Given the description of an element on the screen output the (x, y) to click on. 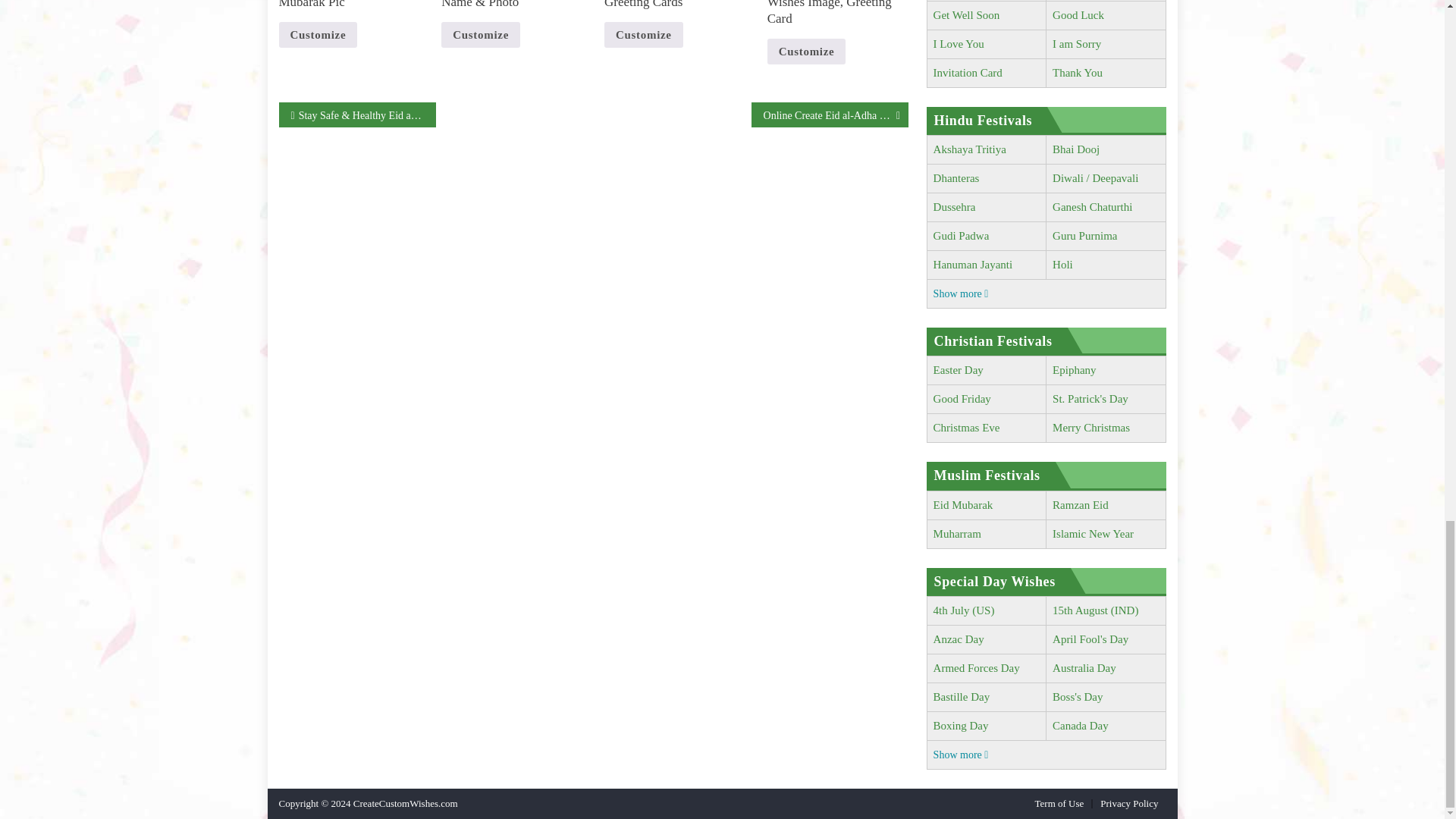
Guru Purnima (1084, 235)
Bhai Dooj (1075, 149)
I am Sorry (1076, 43)
Thank You (1077, 72)
Happy Ganesh Chaturthi (1092, 206)
Dussehra (954, 206)
Holi (1062, 264)
Akshaya Tritiya (969, 149)
Dhanteras (956, 177)
I Love You (958, 43)
Hanuman Jayanti (973, 264)
Invitation Card (968, 72)
Gudi Padwa (961, 235)
Get Well Soon (966, 15)
